Given the description of an element on the screen output the (x, y) to click on. 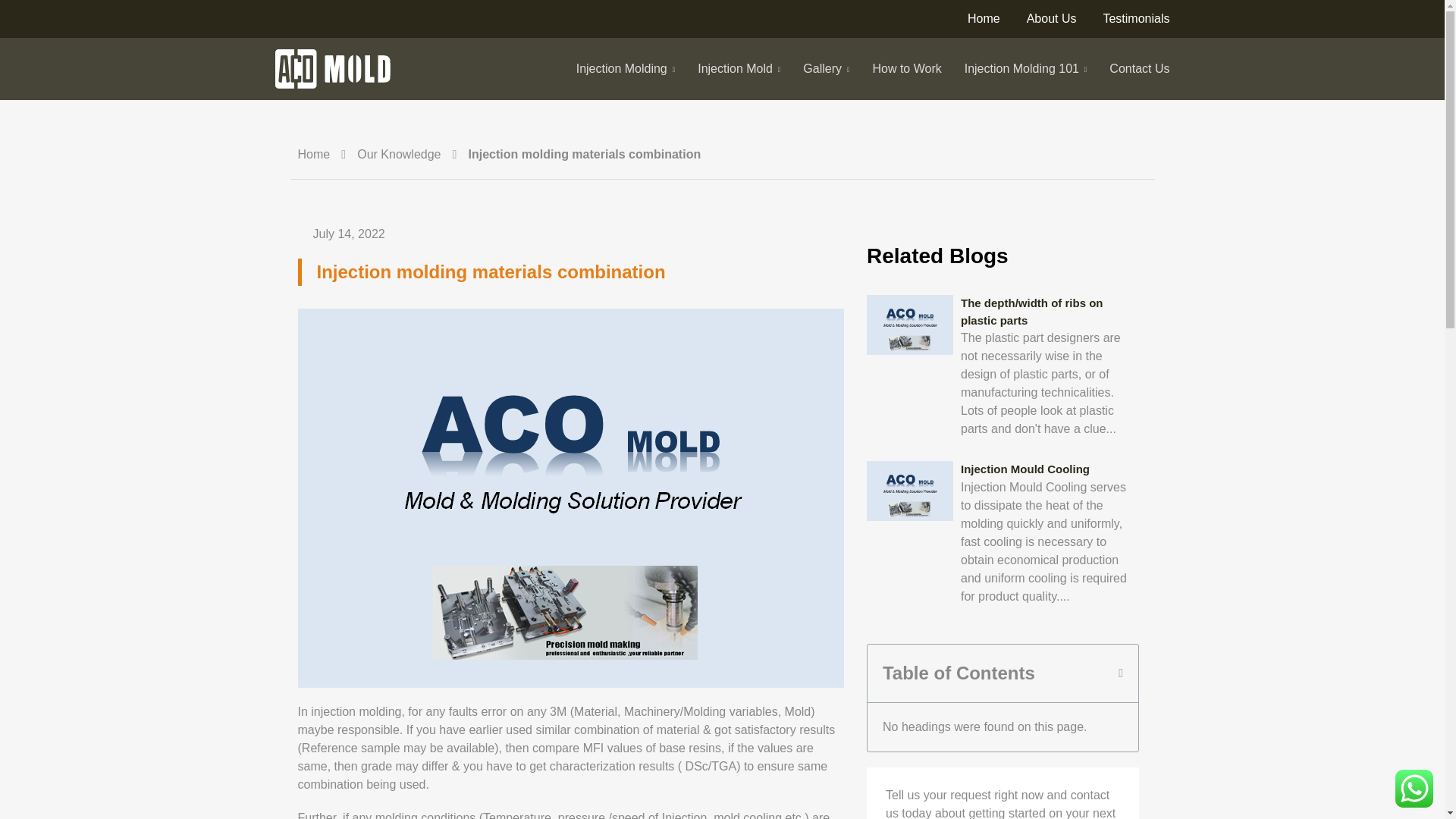
Testimonials (1135, 18)
How to Work (906, 68)
Posts (398, 154)
Injection molding materials combination (583, 154)
Home (313, 154)
Injection Mold (738, 68)
About Us (1051, 18)
Injection Mould Cooling (1024, 468)
Our Knowledge (398, 154)
Home (313, 154)
Injection Molding 101 (1025, 68)
Injection Molding (625, 68)
Contact Us (1139, 68)
